Given the description of an element on the screen output the (x, y) to click on. 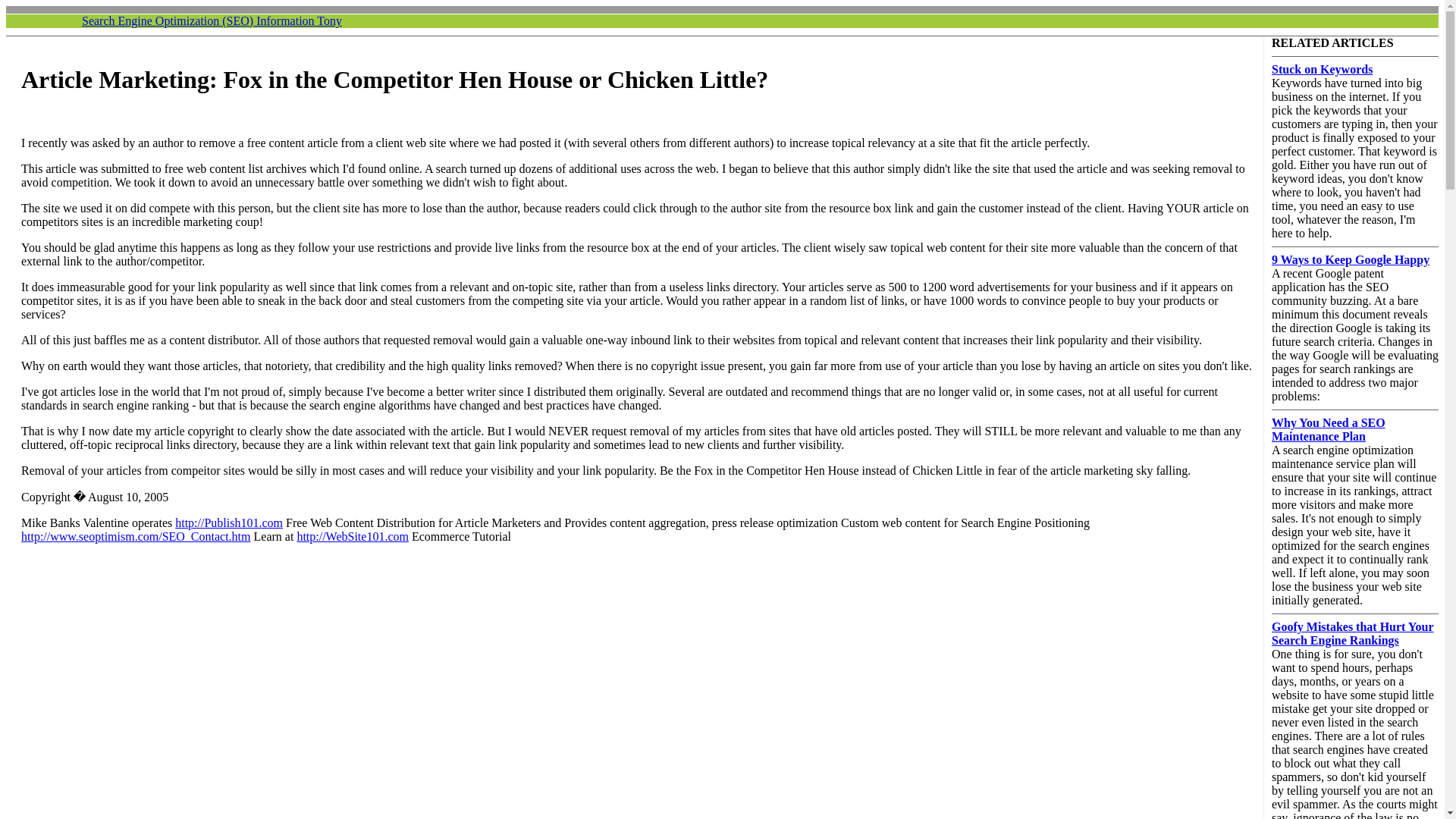
Goofy Mistakes that Hurt Your Search Engine Rankings (1352, 633)
Why You Need a SEO Maintenance Plan (1328, 429)
9 Ways to Keep Google Happy (1350, 259)
Stuck on Keywords (1322, 69)
